Given the description of an element on the screen output the (x, y) to click on. 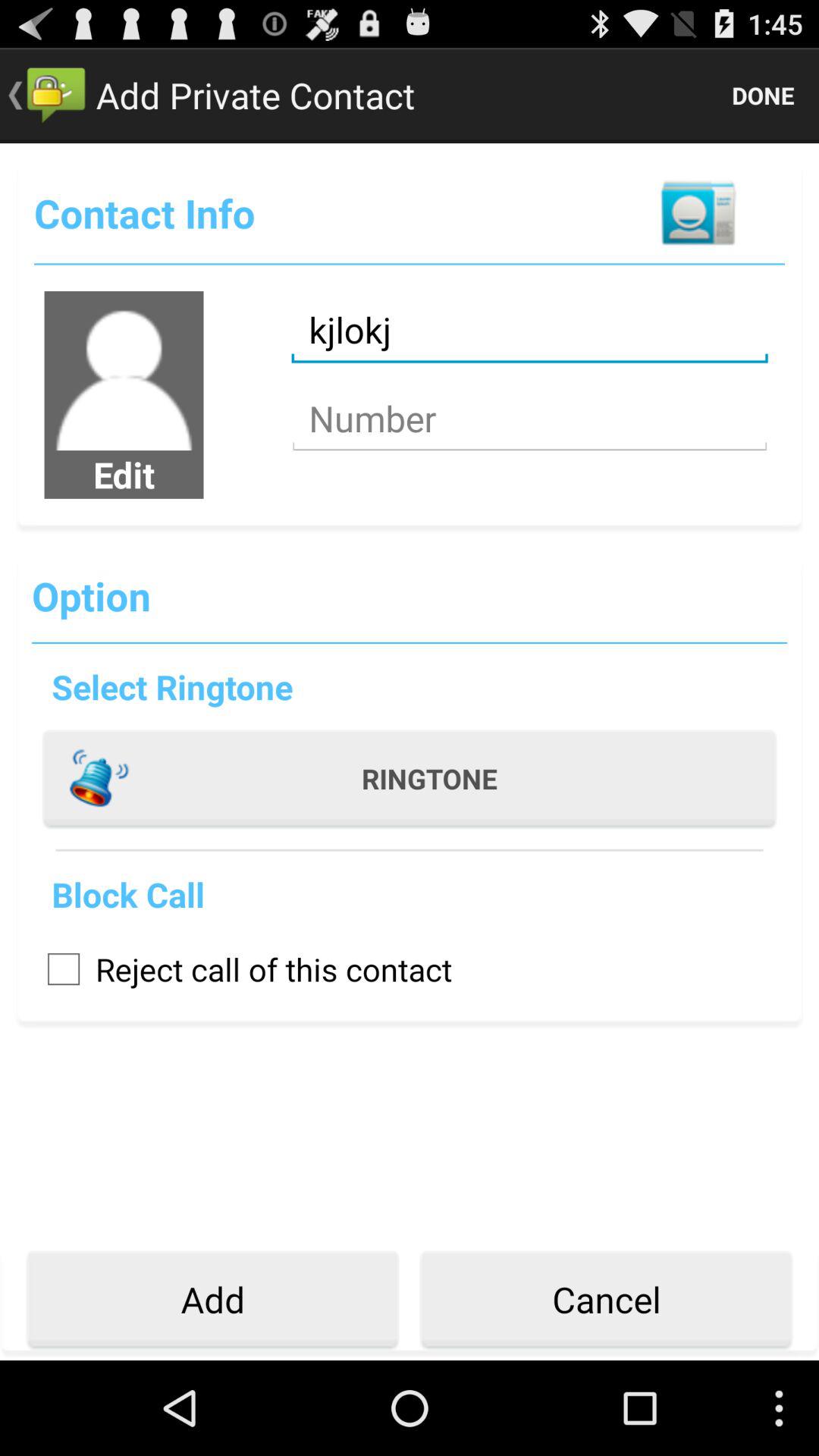
edit the article (123, 370)
